Given the description of an element on the screen output the (x, y) to click on. 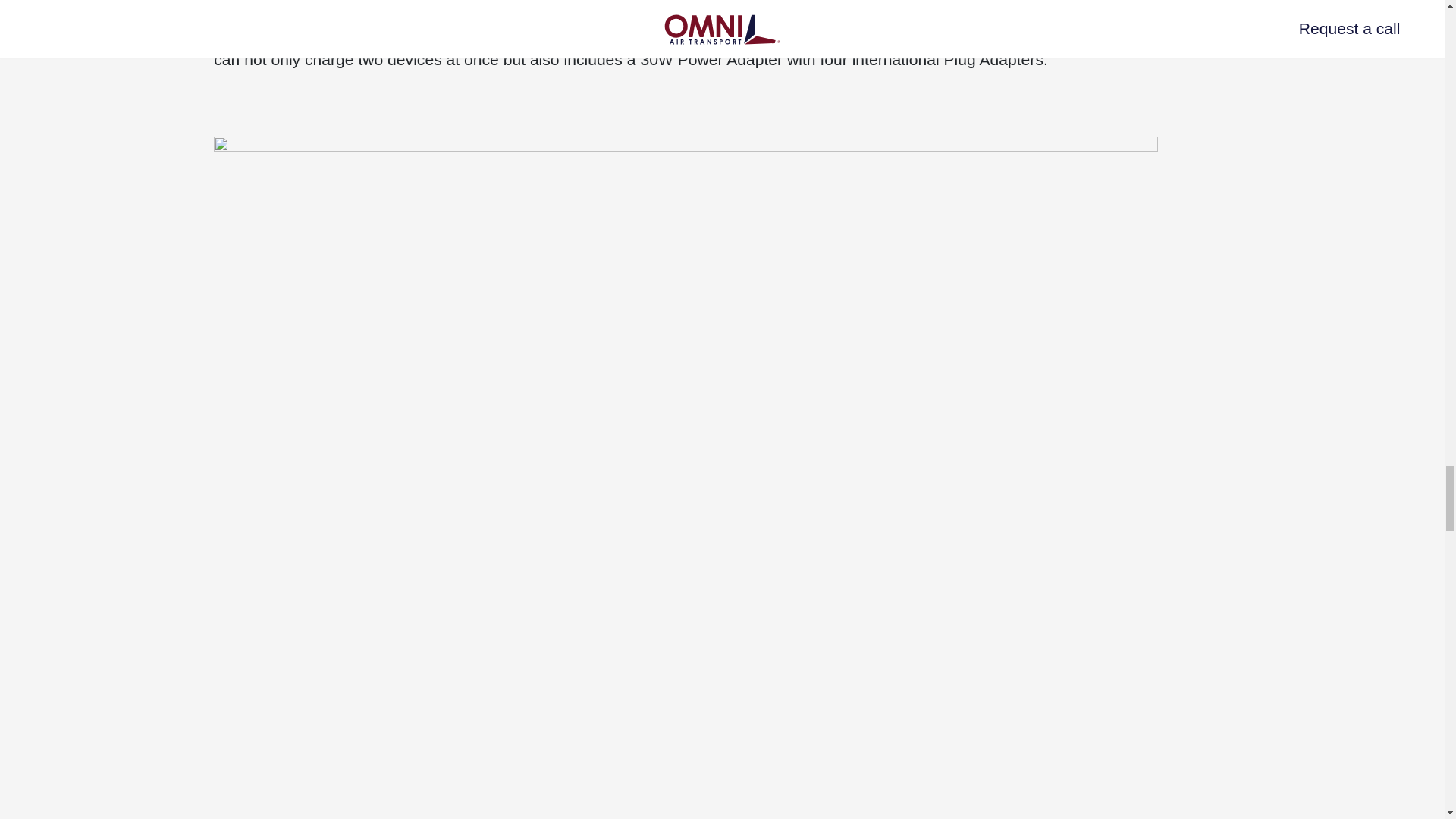
2-in-1 USB-C MagSafe charger (519, 32)
